Given the description of an element on the screen output the (x, y) to click on. 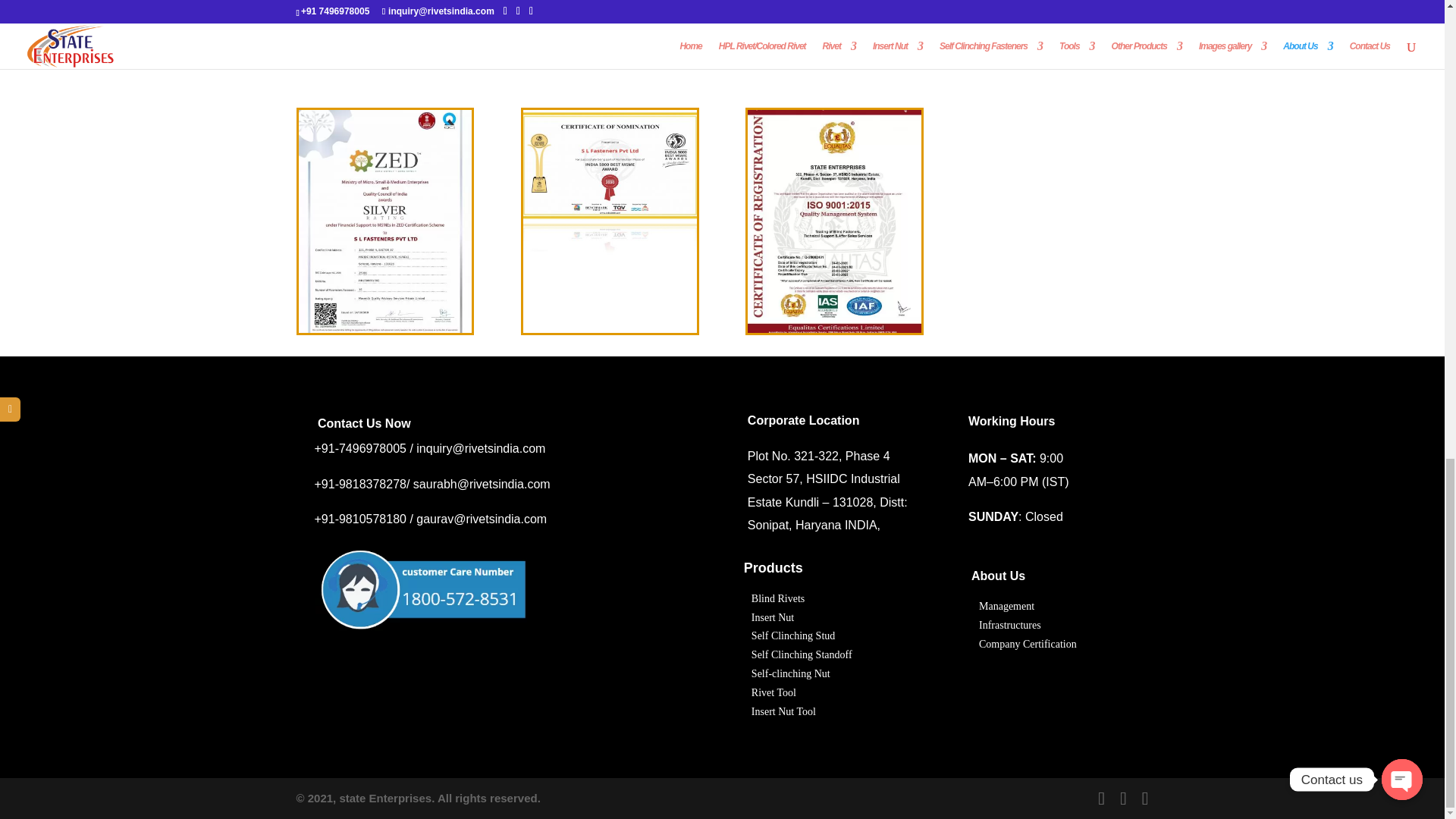
ISO STATE ENTERPRISESISO STATE ENTERPRISES (834, 328)
Insert Nut (772, 617)
Open Type blind Rivets (778, 598)
SL-Fasteners-14001-724x1024 (384, 54)
zed state enterprises (384, 328)
Capture vilk (423, 585)
best msme (609, 328)
